Given the description of an element on the screen output the (x, y) to click on. 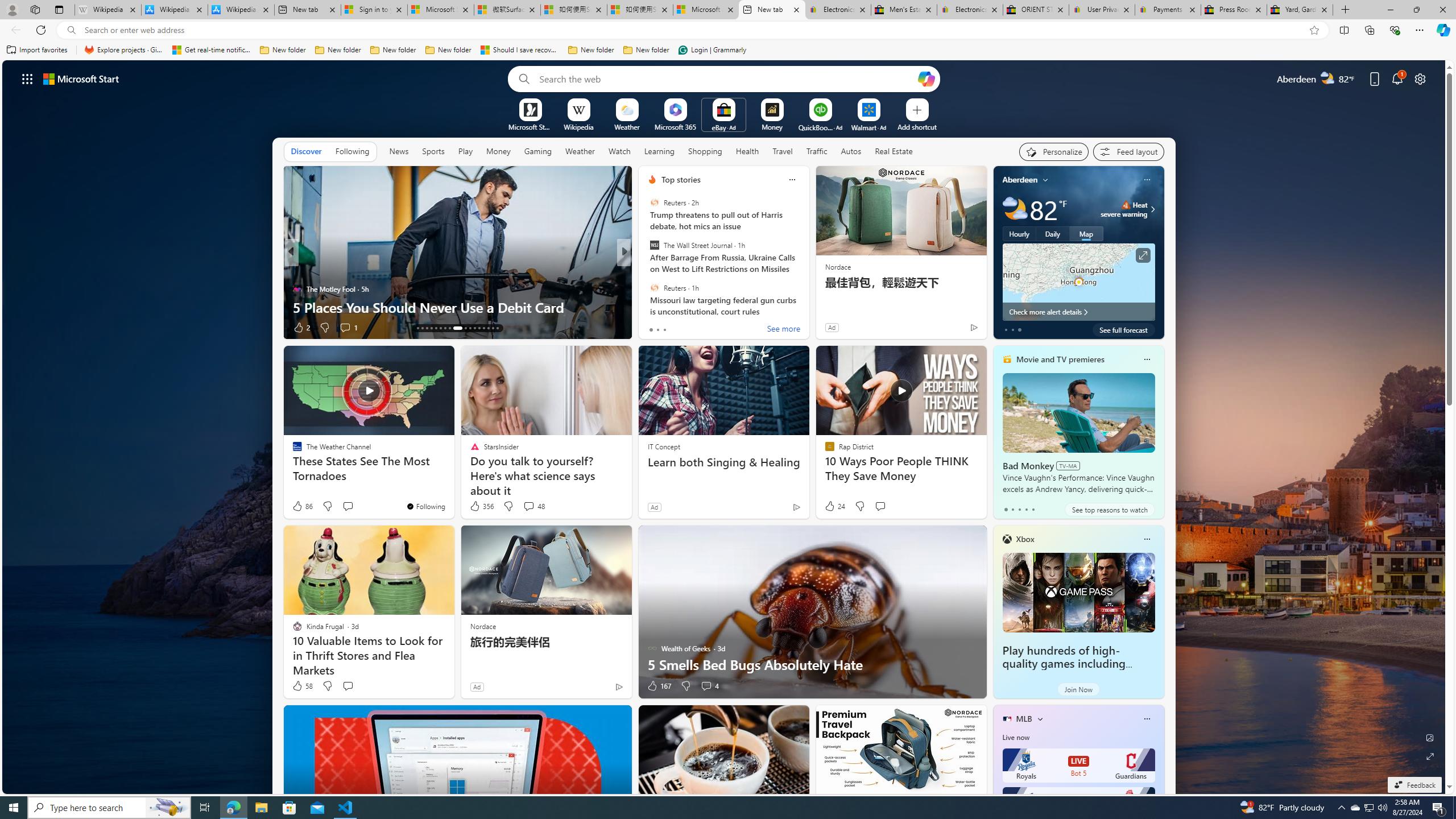
AutomationID: tab-24 (474, 328)
View comments 1 Comment (698, 327)
View comments 5 Comment (351, 327)
View comments 1 Comment (702, 327)
12 Like (652, 327)
IT Concept (663, 446)
Personalize your feed" (1054, 151)
AutomationID: tab-26 (483, 328)
Larger map  (1077, 282)
Enter your search term (726, 78)
Page settings (1420, 78)
Play (465, 151)
Money (498, 151)
